Given the description of an element on the screen output the (x, y) to click on. 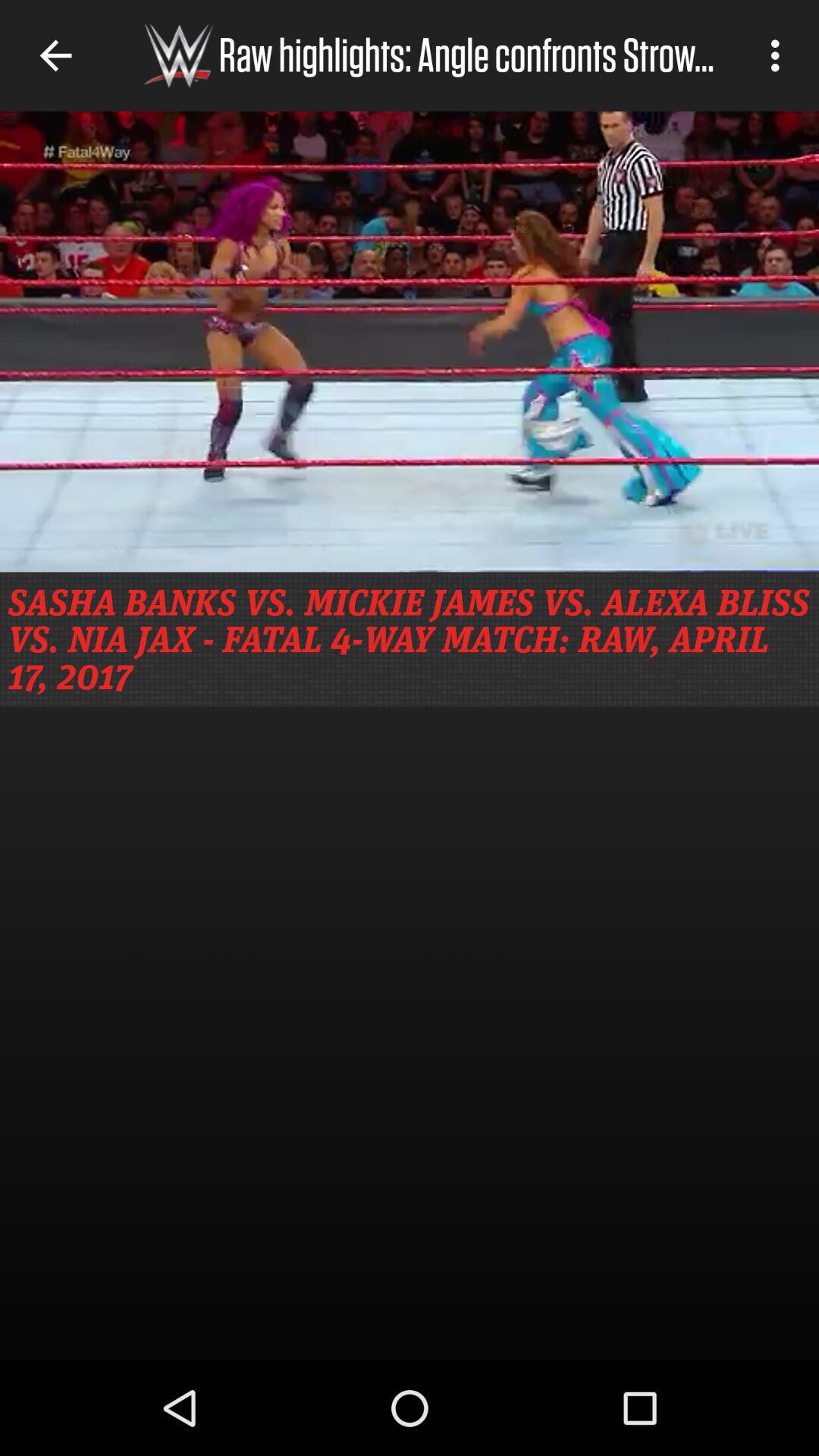
scroll to sasha banks vs (409, 639)
